Given the description of an element on the screen output the (x, y) to click on. 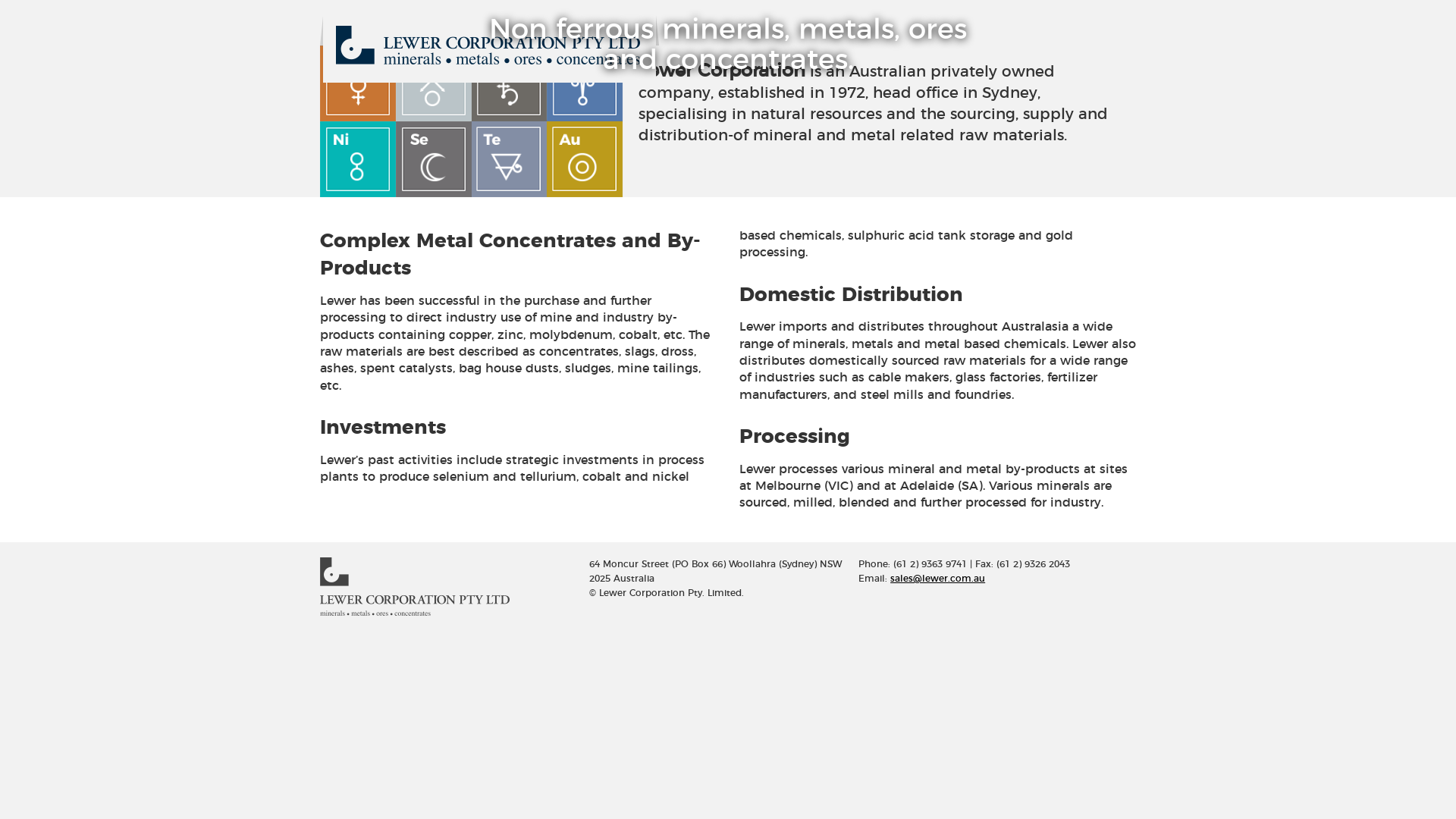
sales@lewer.com.au Element type: text (937, 578)
